Given the description of an element on the screen output the (x, y) to click on. 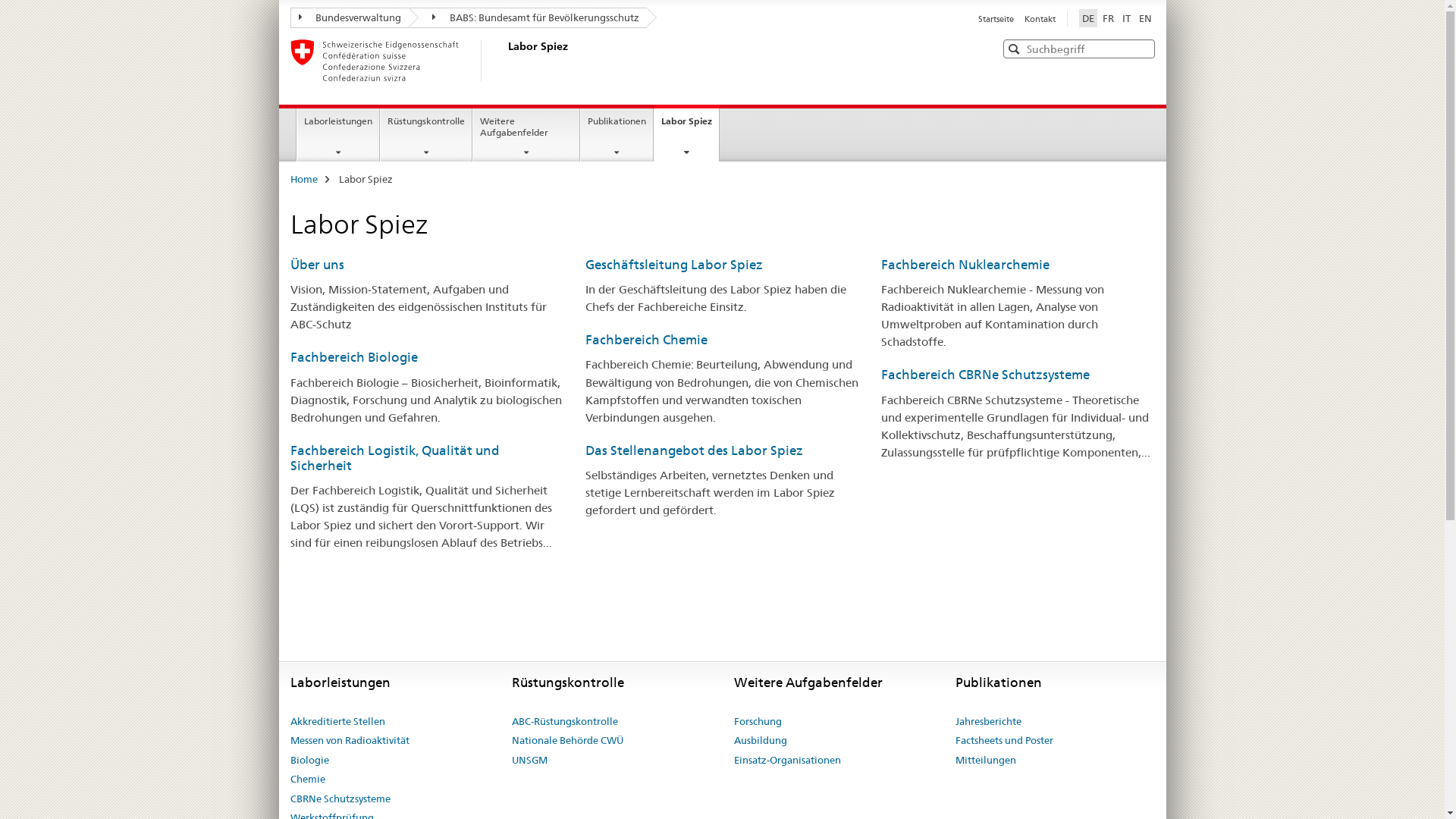
Bundesverwaltung Element type: text (348, 17)
Startseite Element type: text (995, 18)
Forschung Element type: text (757, 721)
Publikationen Element type: text (616, 134)
UNSGM Element type: text (529, 760)
Home Element type: text (302, 178)
CBRNe Schutzsysteme Element type: text (339, 799)
Das Stellenangebot des Labor Spiez Element type: text (694, 450)
Chemie Element type: text (306, 779)
Jahresberichte Element type: text (988, 721)
Factsheets und Poster Element type: text (1004, 740)
Einsatz-Organisationen Element type: text (787, 760)
Weitere Aufgabenfelder Element type: text (526, 134)
Laborleistungen Element type: text (338, 134)
IT Element type: text (1126, 18)
Akkreditierte Stellen Element type: text (336, 721)
Fachbereich Chemie Element type: text (646, 339)
EN Element type: text (1144, 18)
Kontakt Element type: text (1038, 18)
Fachbereich CBRNe Schutzsysteme Element type: text (985, 374)
Labor Spiez
current page Element type: text (686, 132)
Clear Element type: text (1140, 48)
FR Element type: text (1108, 18)
Biologie Element type: text (308, 760)
Mitteilungen Element type: text (985, 760)
Labor Spiez Element type: text (505, 60)
Ausbildung Element type: text (760, 740)
Fachbereich Nuklearchemie Element type: text (965, 264)
Fachbereich Biologie Element type: text (353, 356)
DE
selected Element type: text (1087, 18)
